Given the description of an element on the screen output the (x, y) to click on. 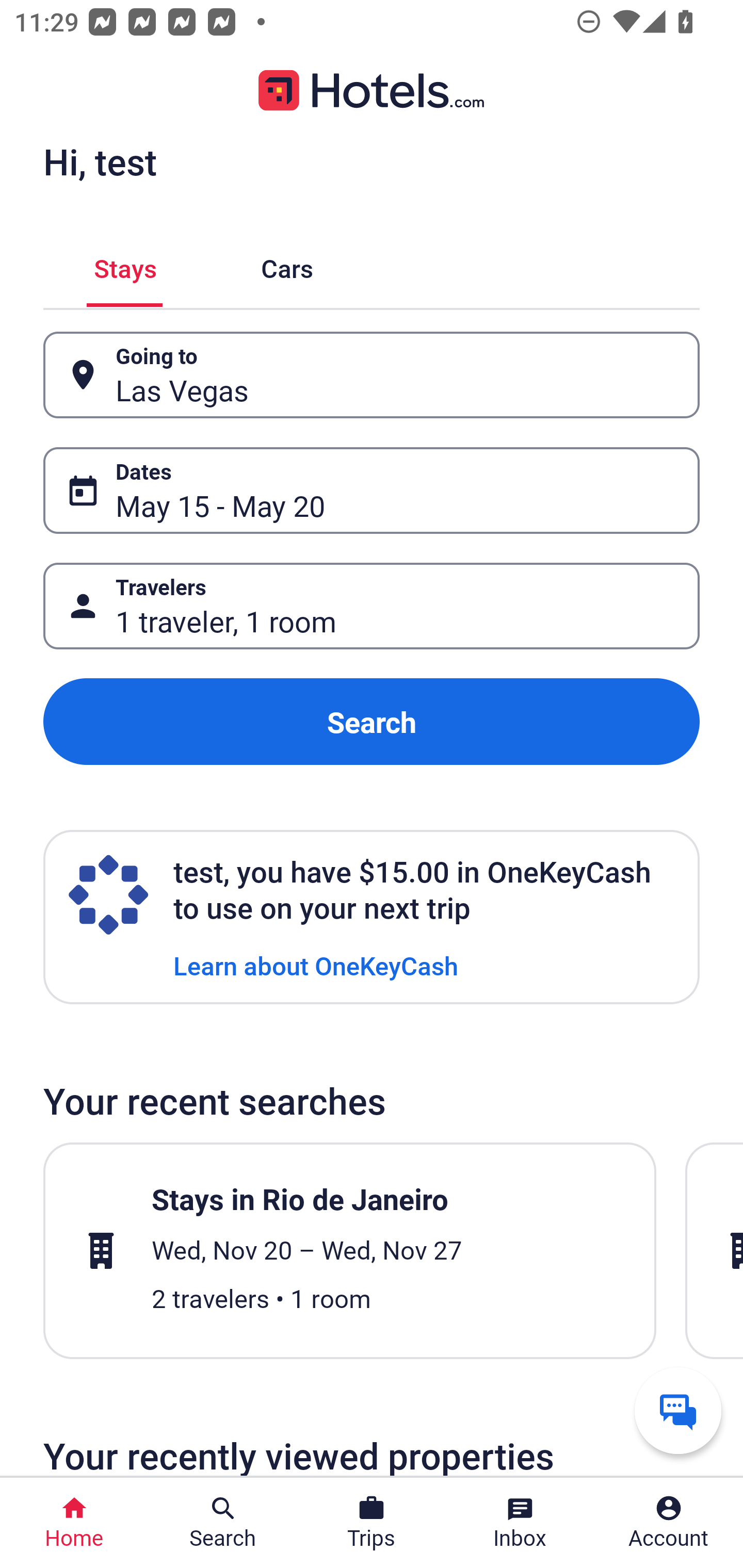
Hi, test (99, 161)
Cars (286, 265)
Going to Button Las Vegas (371, 375)
Dates Button May 15 - May 20 (371, 489)
Travelers Button 1 traveler, 1 room (371, 605)
Search (371, 721)
Learn about OneKeyCash Learn about OneKeyCash Link (315, 964)
Get help from a virtual agent (677, 1410)
Search Search Button (222, 1522)
Trips Trips Button (371, 1522)
Inbox Inbox Button (519, 1522)
Account Profile. Button (668, 1522)
